Given the description of an element on the screen output the (x, y) to click on. 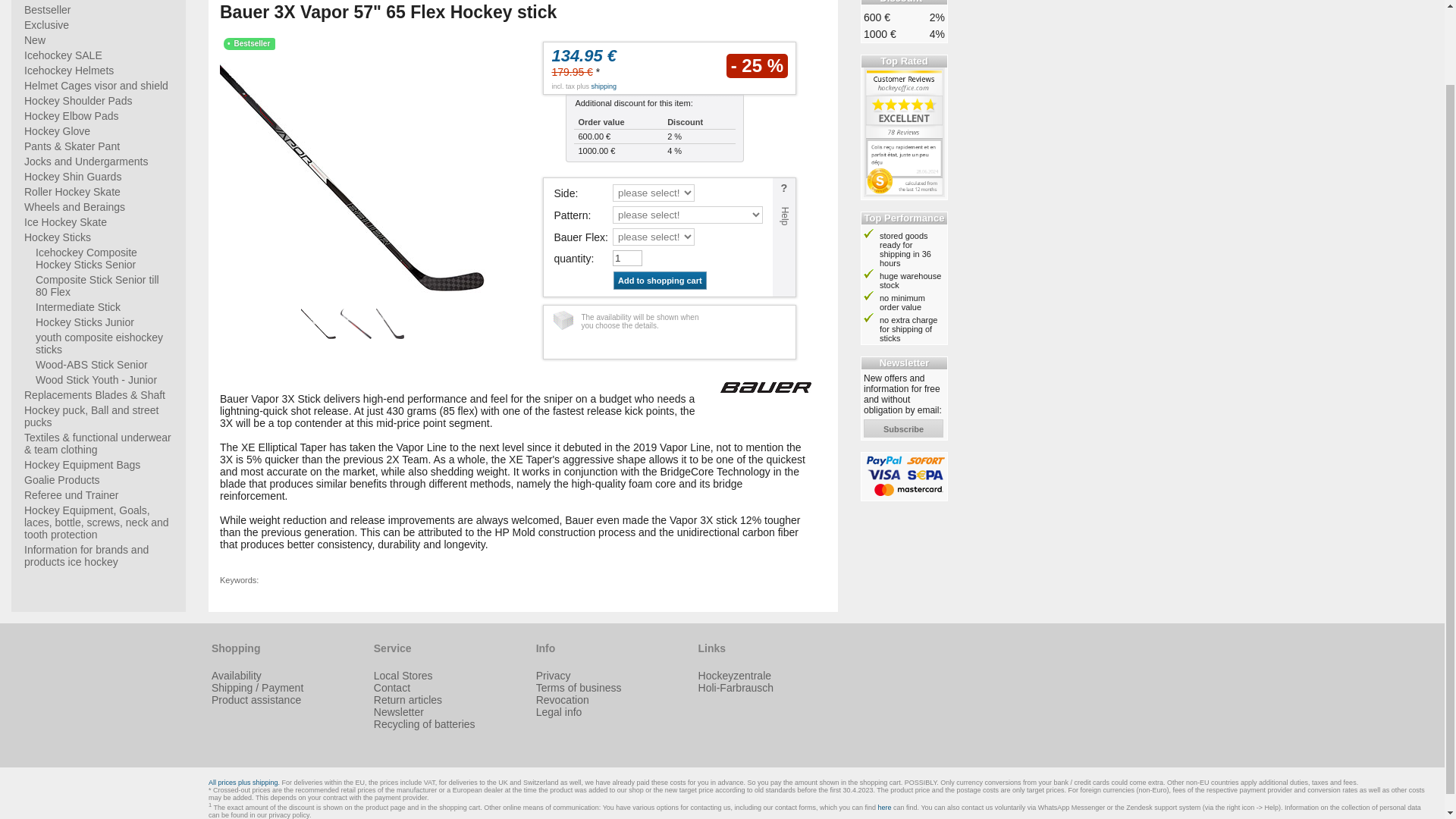
BAUER (765, 387)
Add item to shopping cart (659, 280)
Holi Festival und Holi Tickets (736, 687)
Hockey Shop und Produkte (734, 675)
Bauer 3X Vapor 57" 65 Flex Hockey stick (351, 177)
1 (627, 258)
